Given the description of an element on the screen output the (x, y) to click on. 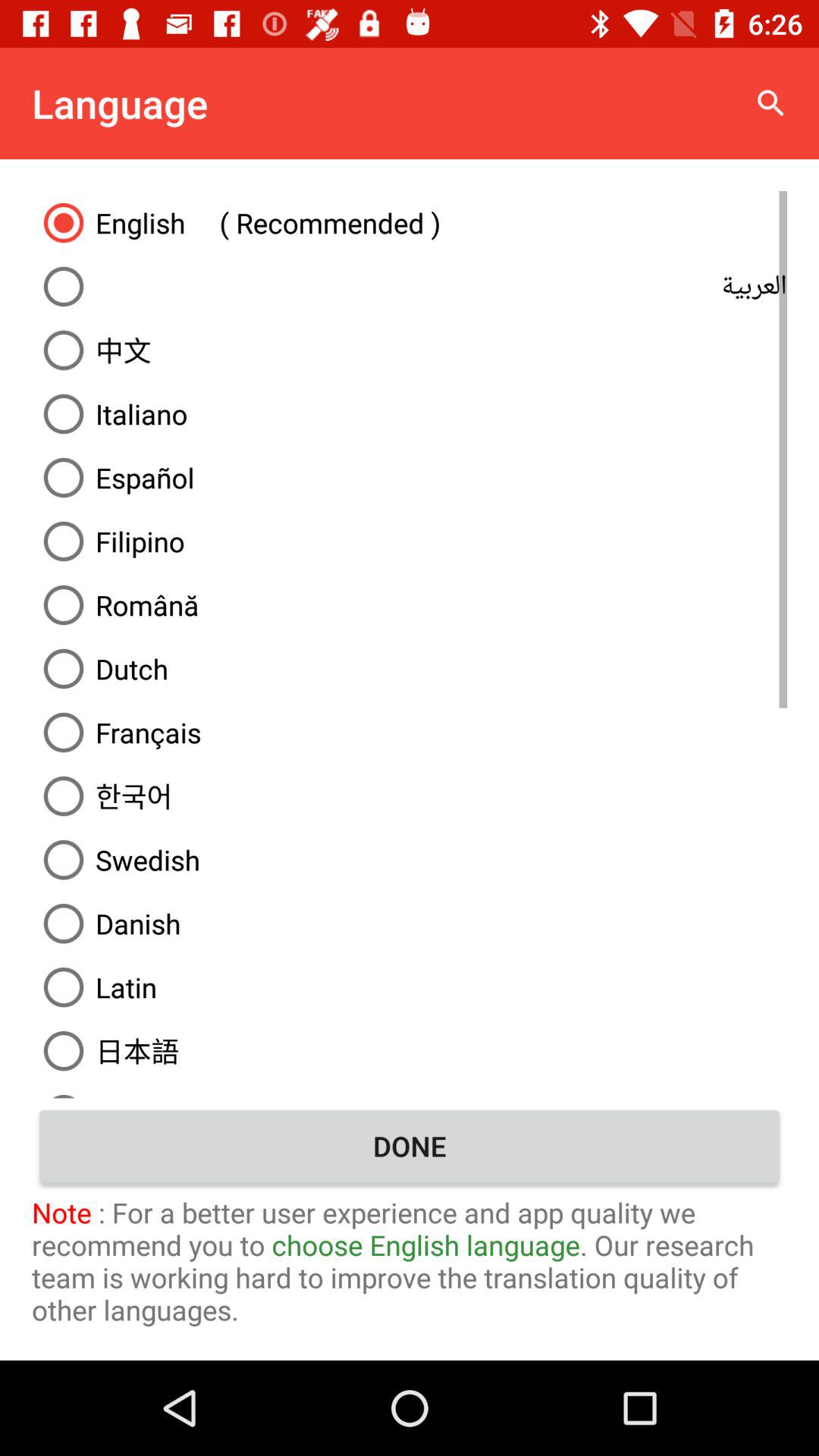
open the swedish item (409, 859)
